Given the description of an element on the screen output the (x, y) to click on. 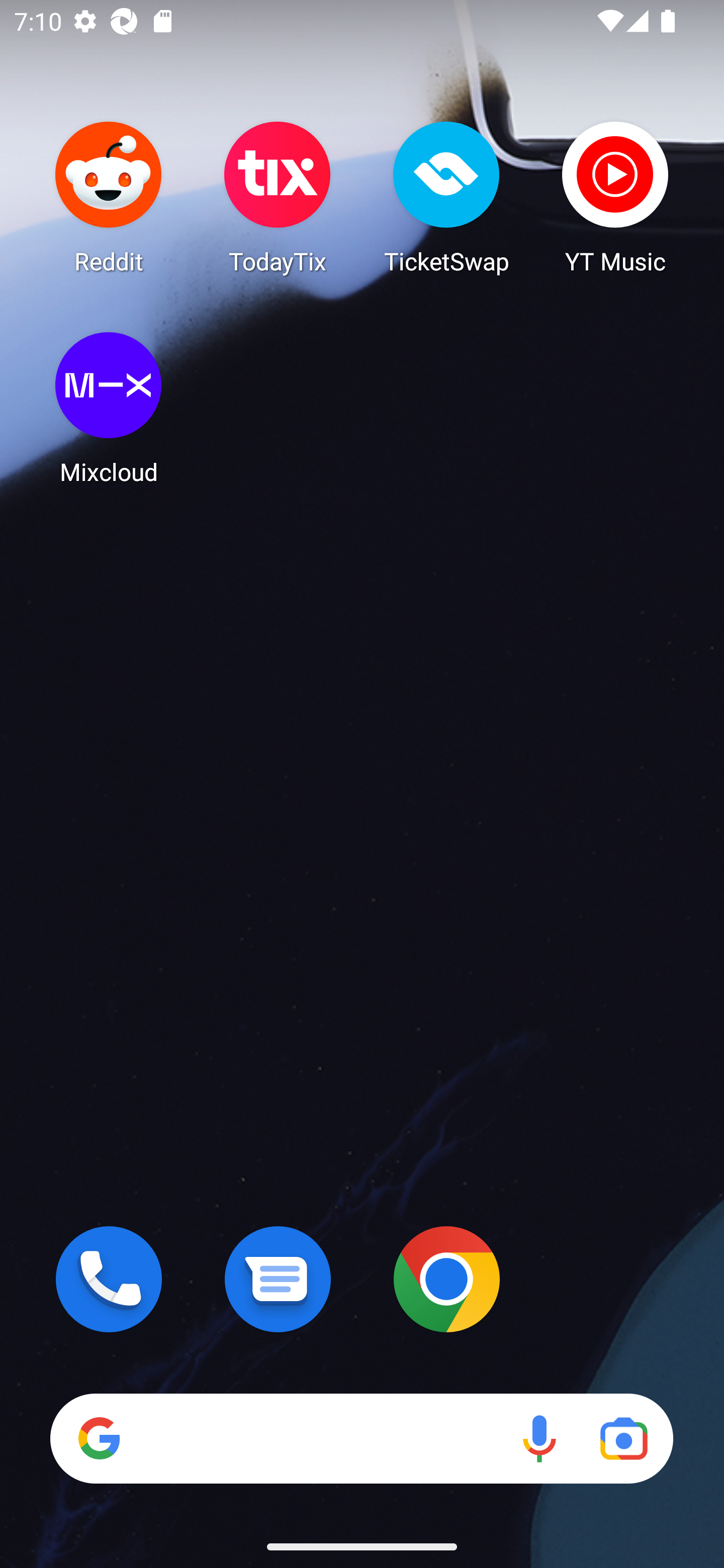
Reddit (108, 196)
TodayTix (277, 196)
TicketSwap (445, 196)
YT Music (615, 196)
Mixcloud (108, 407)
Phone (108, 1279)
Messages (277, 1279)
Chrome (446, 1279)
Voice search (539, 1438)
Google Lens (623, 1438)
